Given the description of an element on the screen output the (x, y) to click on. 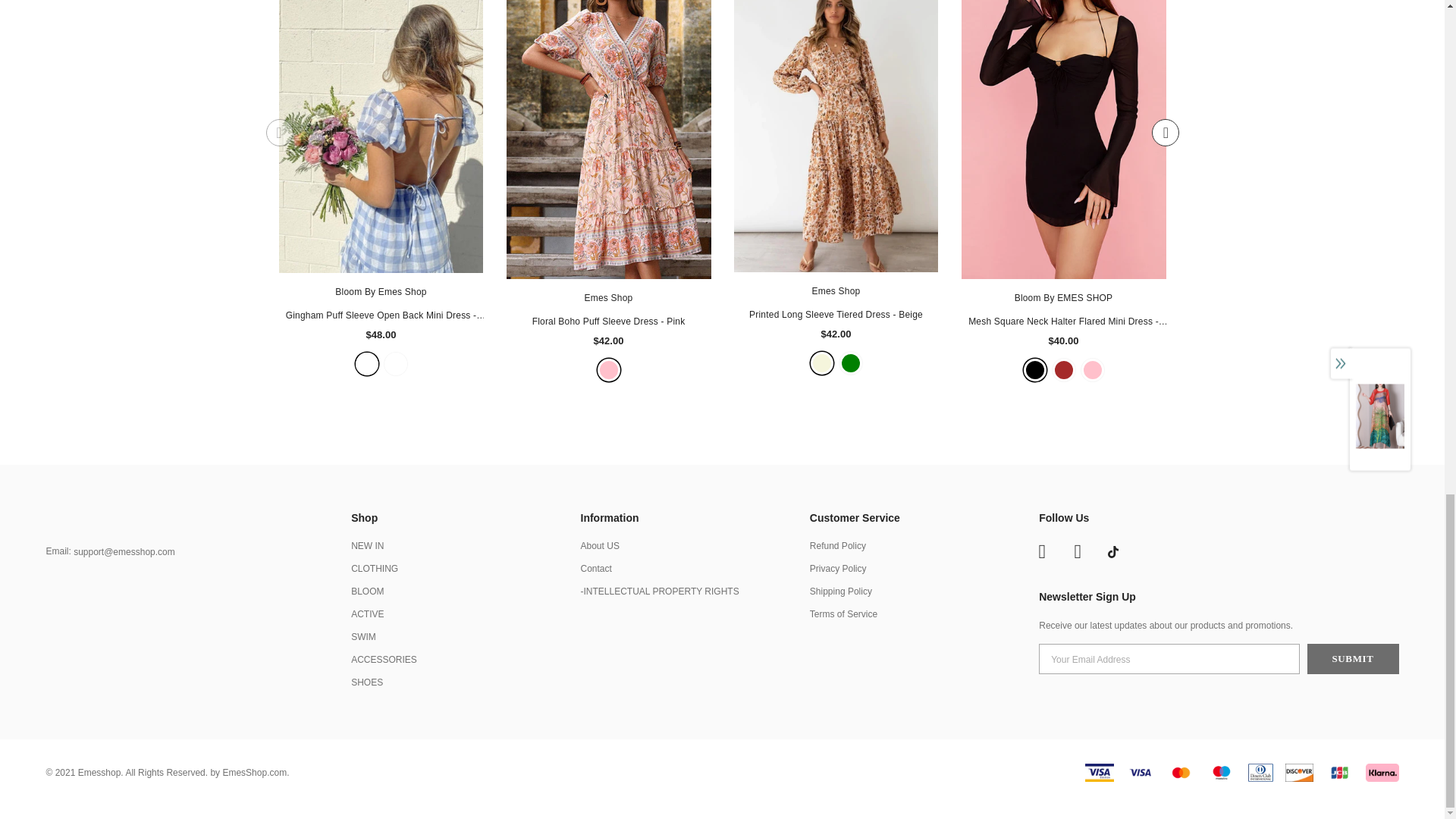
Submit (1353, 658)
